Given the description of an element on the screen output the (x, y) to click on. 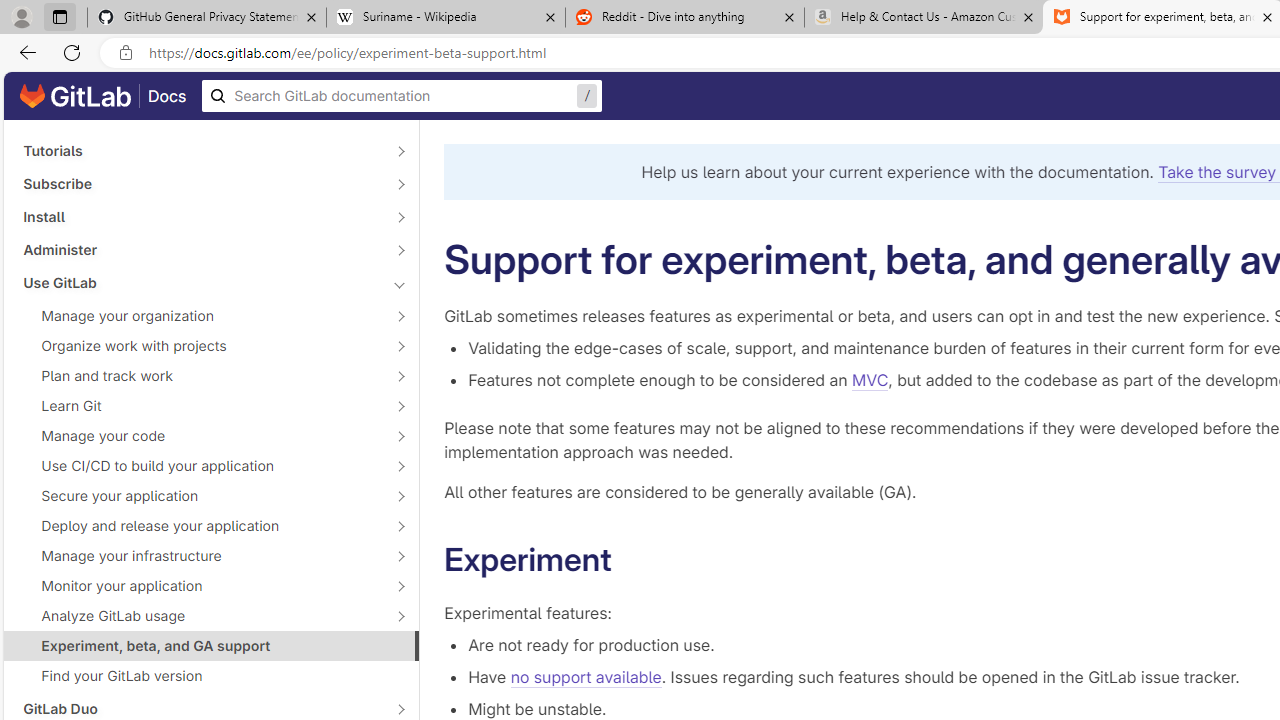
Plan and track work (199, 375)
Permalink (630, 560)
